Given the description of an element on the screen output the (x, y) to click on. 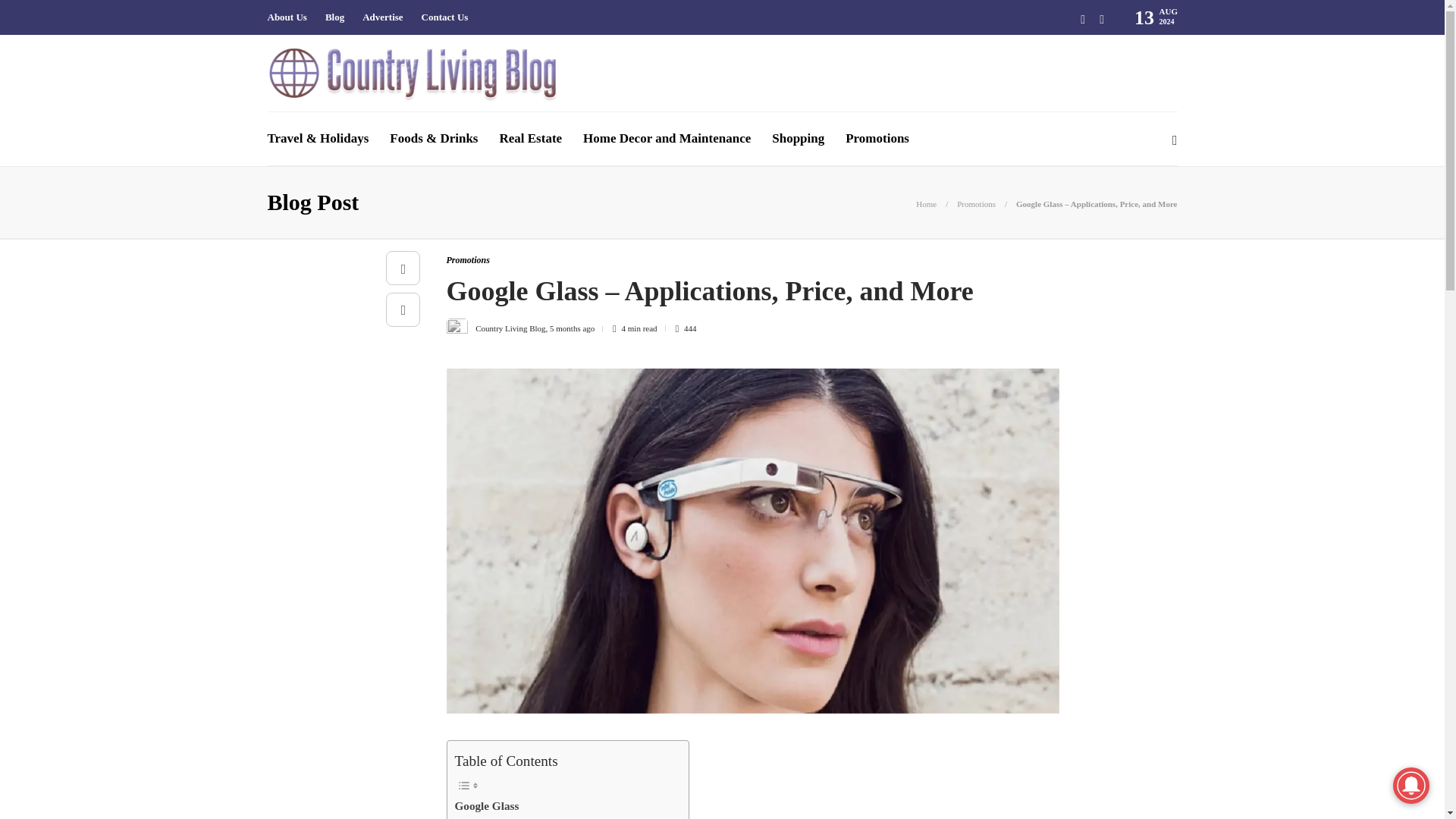
5 months ago (572, 327)
What are the Applications for Google Glass? (564, 817)
Google Glass (486, 805)
About Us (285, 17)
Home Decor and Maintenance (667, 138)
Shopping (797, 138)
What are the Applications for Google Glass? (564, 817)
Home (925, 203)
Country Living Blog (510, 327)
Real Estate (530, 138)
